Given the description of an element on the screen output the (x, y) to click on. 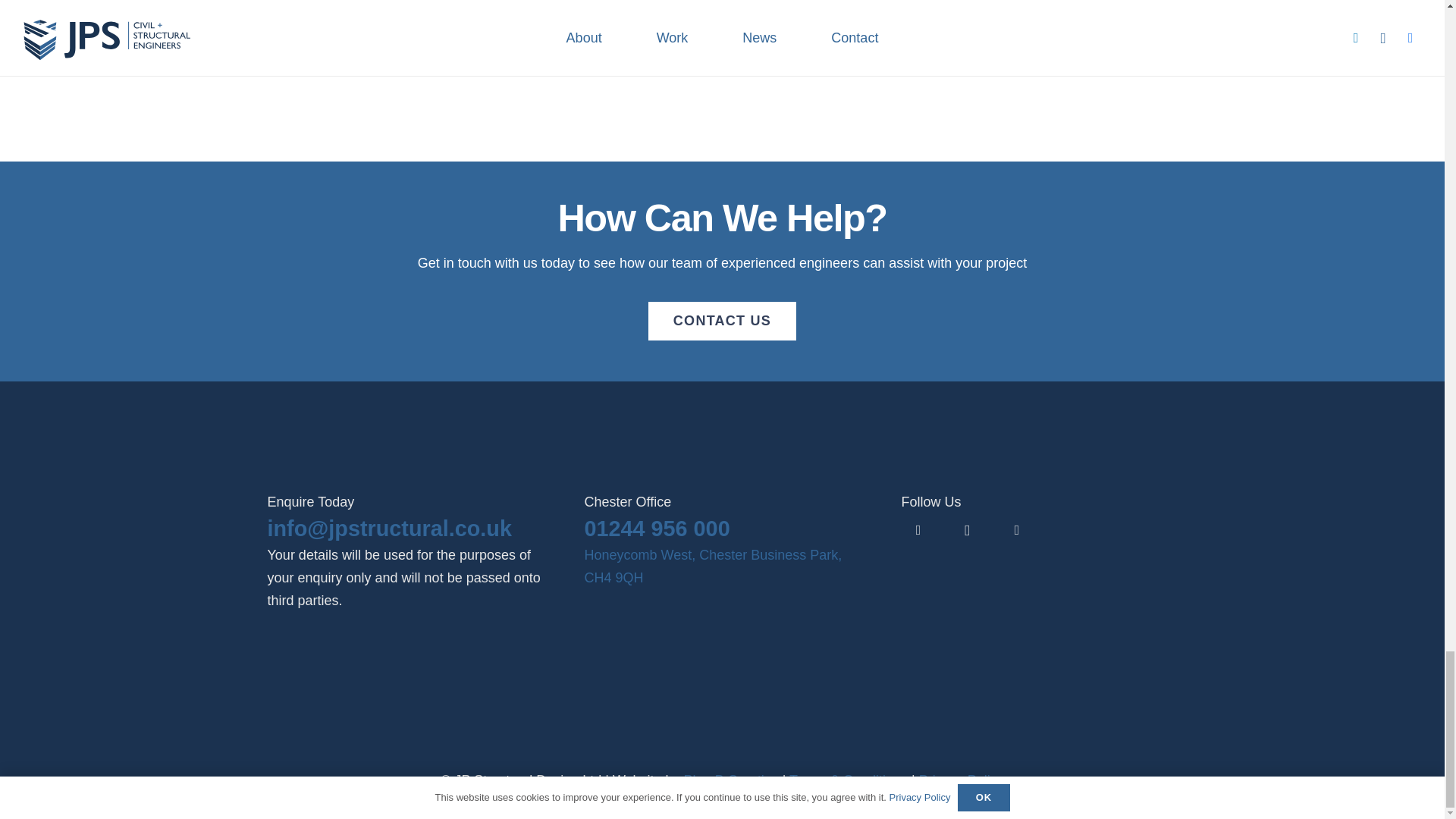
Honeycomb West, Chester Business Park, CH4 9QH (712, 566)
Instagram (967, 530)
Plan B Creative (731, 780)
CONTACT US (720, 320)
Privacy Policy (961, 780)
Contact (720, 320)
A busy year at Coleg Cambria! (1012, 2)
LinkedIn (917, 530)
01244 956 000 (656, 528)
